Given the description of an element on the screen output the (x, y) to click on. 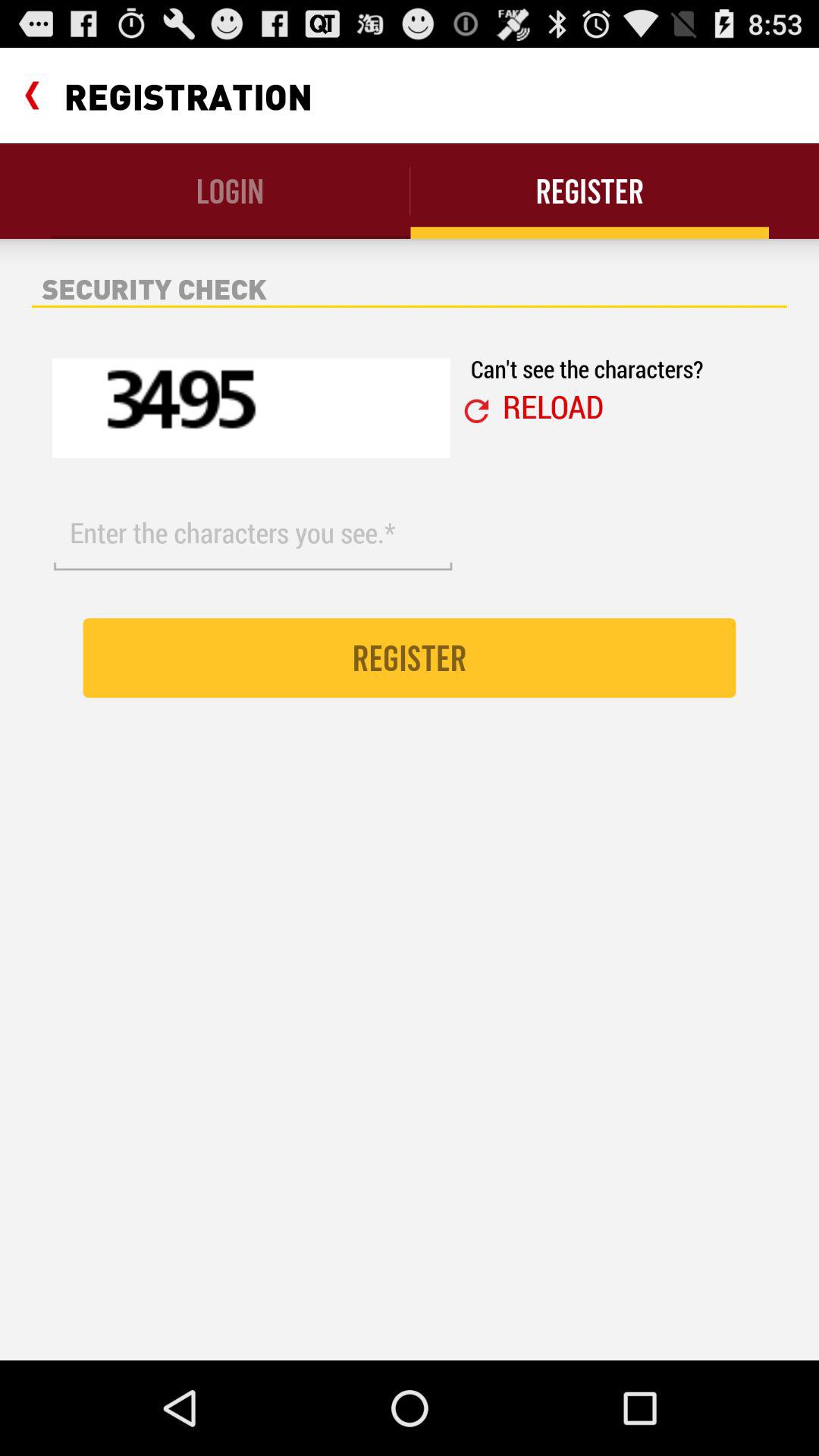
click the icon below can t see (476, 411)
